Given the description of an element on the screen output the (x, y) to click on. 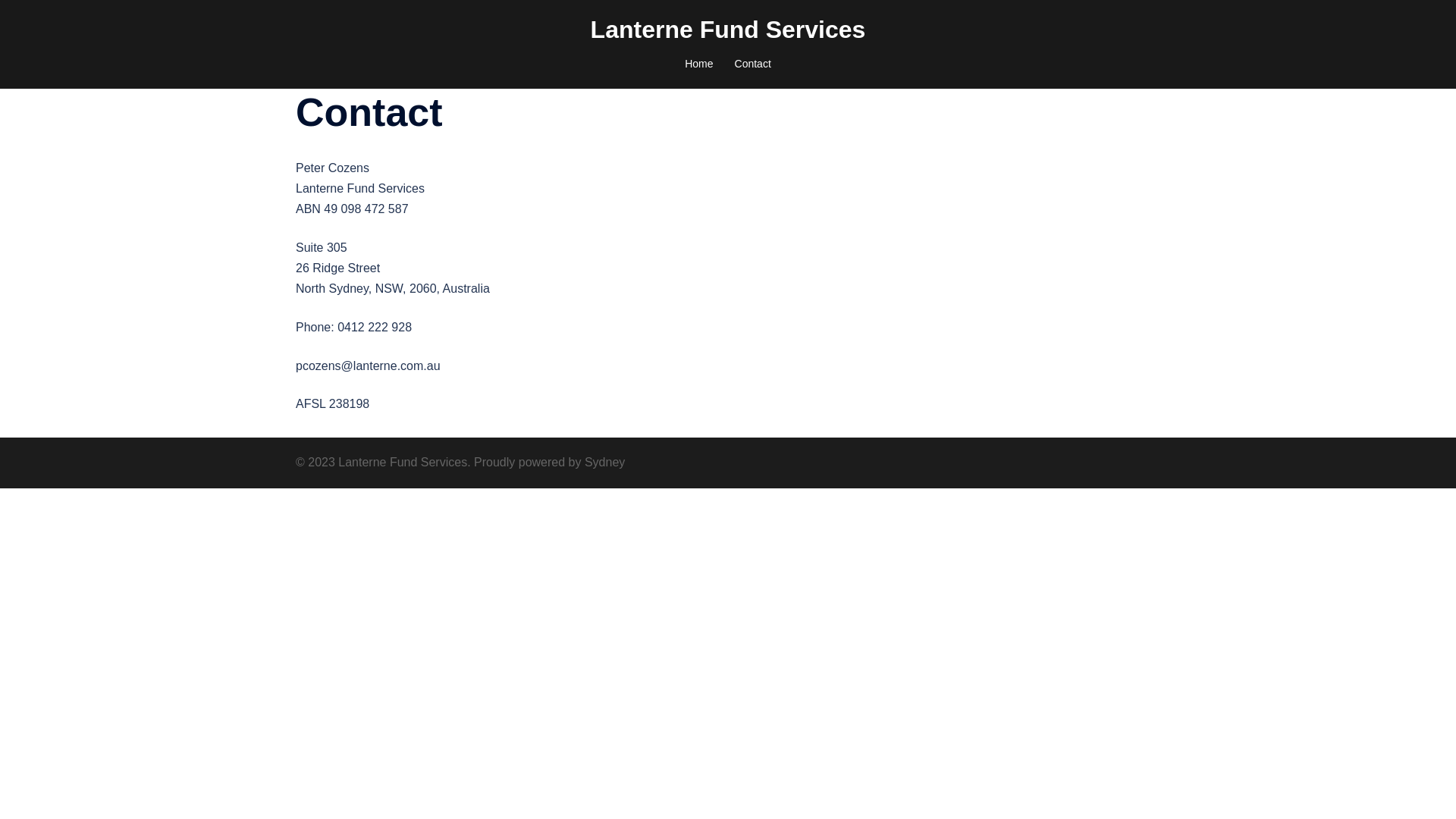
Home Element type: text (698, 64)
pcozens@lanterne.com.au Element type: text (367, 365)
Contact Element type: text (752, 64)
Lanterne Fund Services Element type: text (728, 29)
Sydney Element type: text (604, 461)
